Given the description of an element on the screen output the (x, y) to click on. 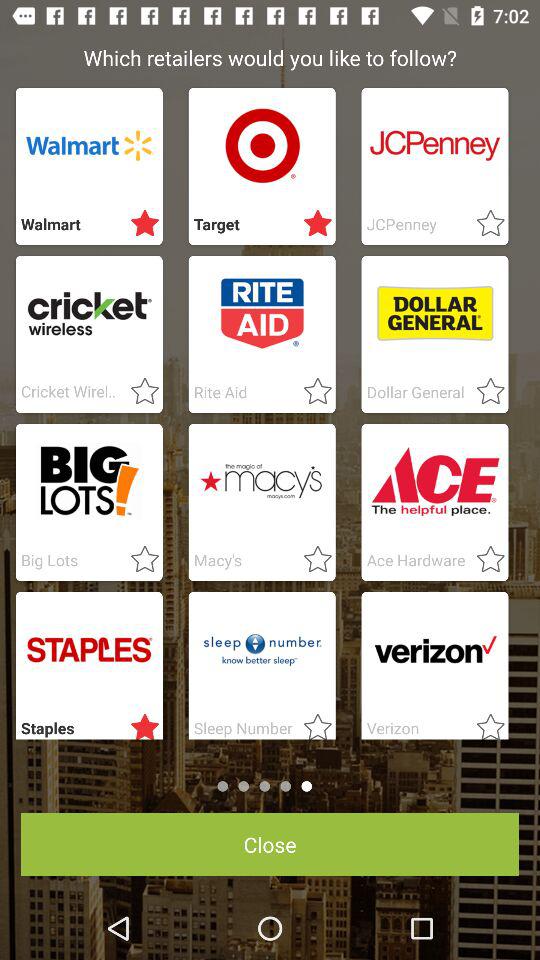
adding favorite star icon (139, 224)
